Given the description of an element on the screen output the (x, y) to click on. 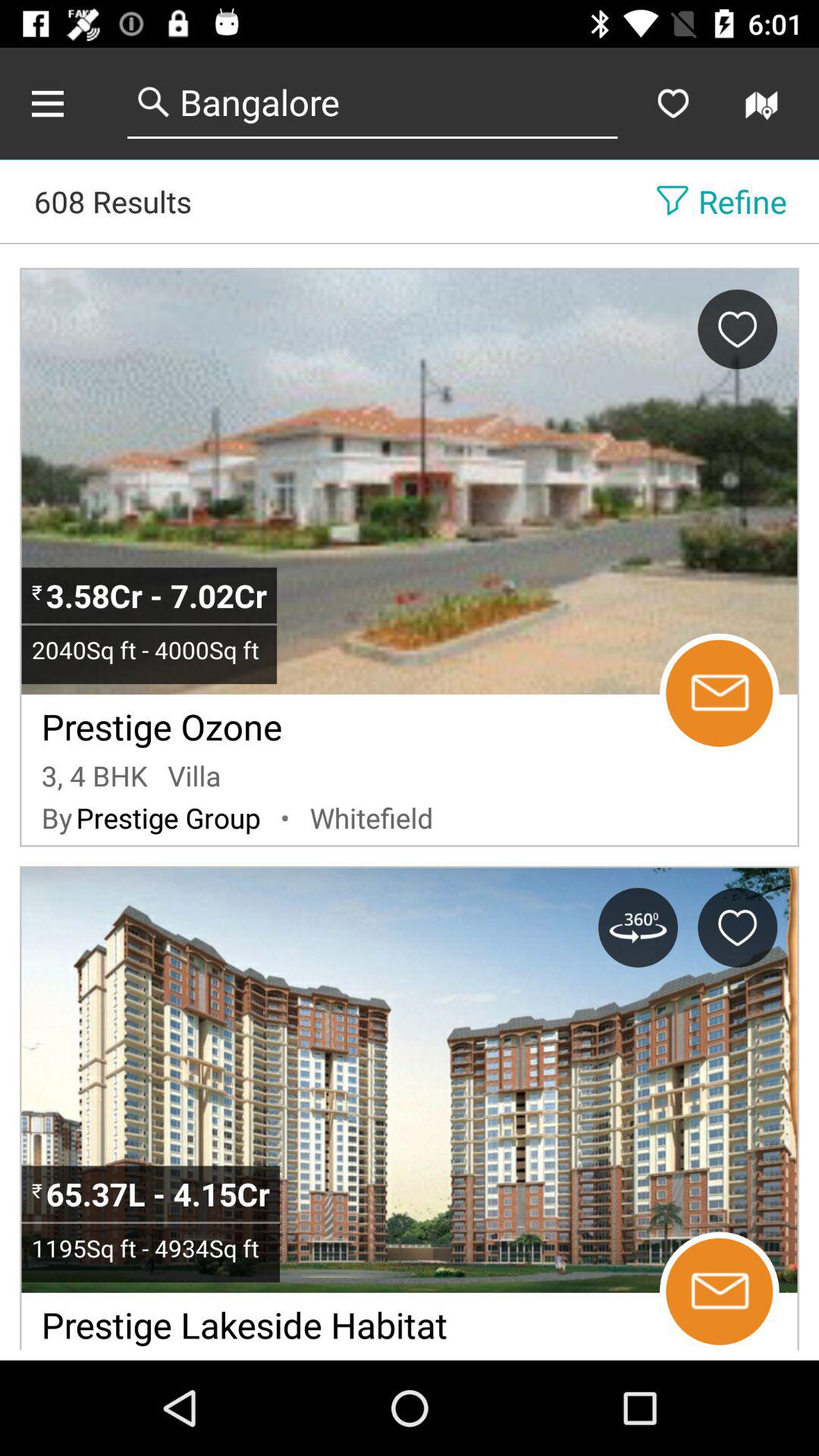
favorites the selected entry (673, 103)
